Given the description of an element on the screen output the (x, y) to click on. 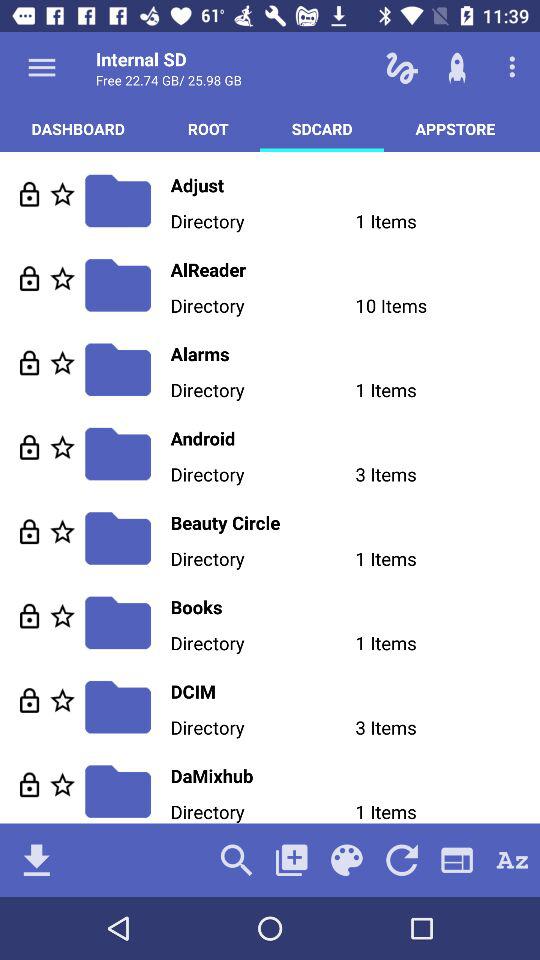
lock and folder (29, 193)
